Given the description of an element on the screen output the (x, y) to click on. 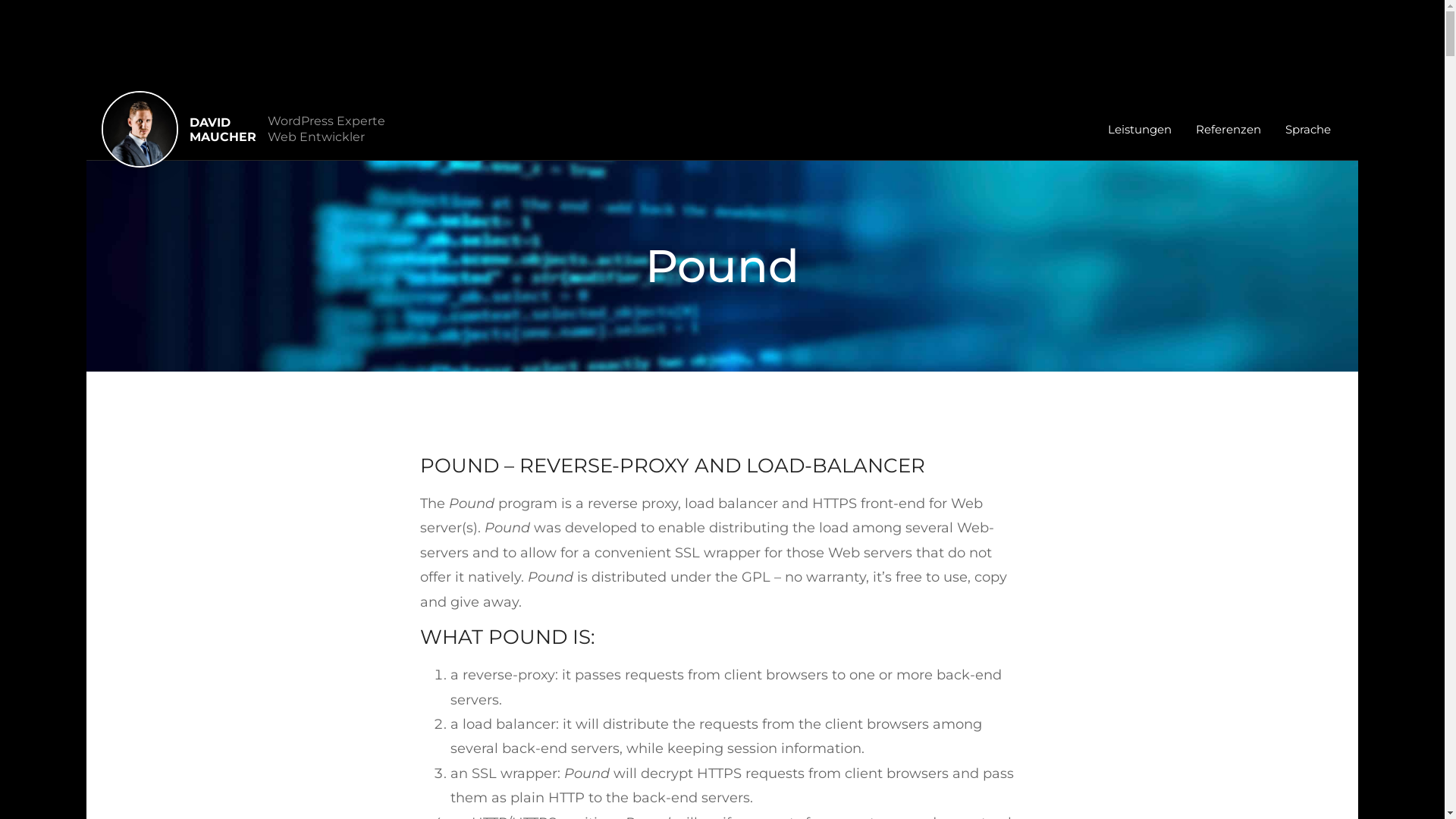
Leistungen Element type: text (1139, 129)
Sprache Element type: text (1308, 129)
Referenzen Element type: text (1228, 129)
DAVID
MAUCHER Element type: text (222, 129)
WordPress Experte
Web Entwickler Element type: text (326, 128)
